Given the description of an element on the screen output the (x, y) to click on. 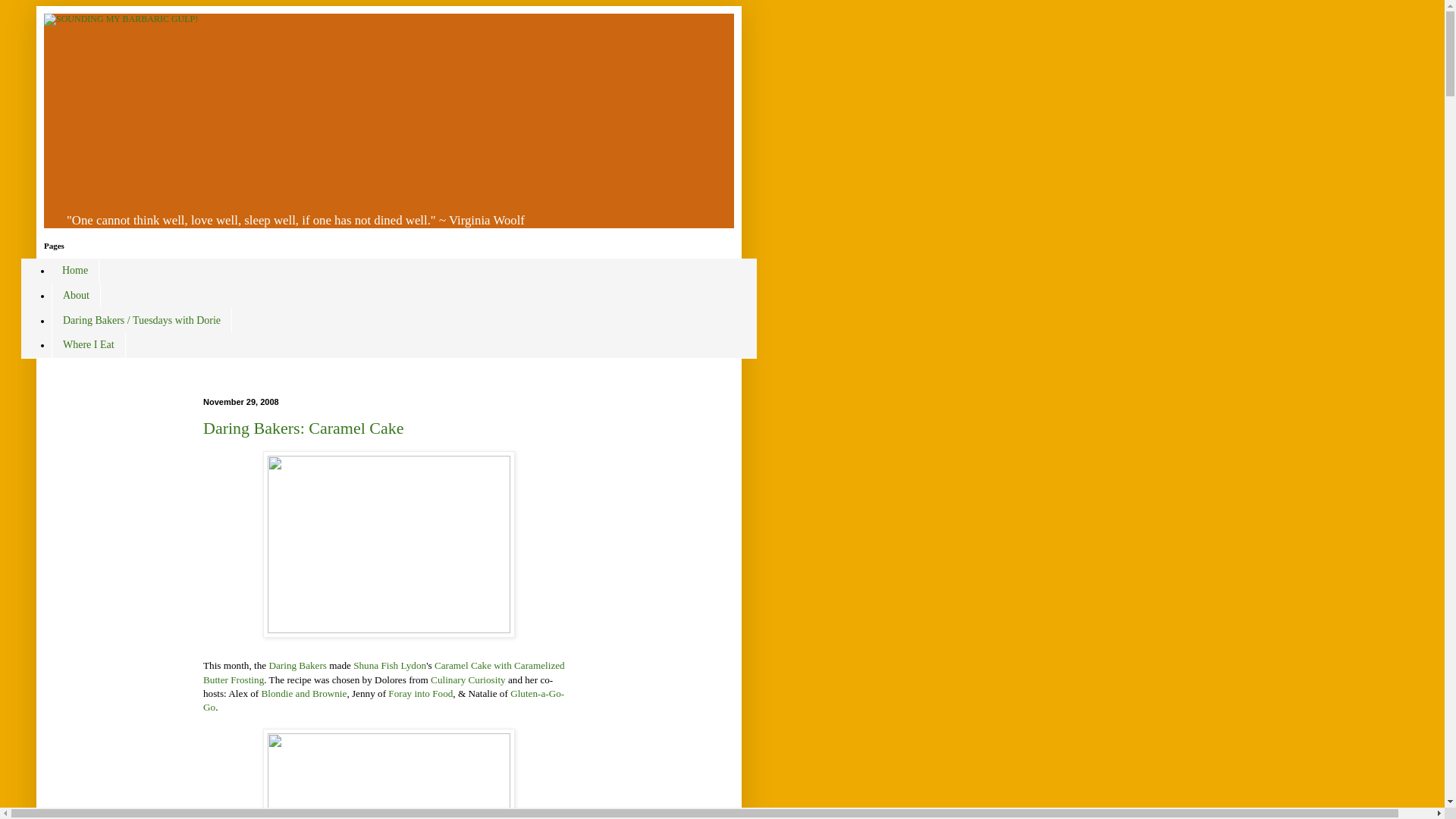
Caramel Cake with Caramelized Butter Frosting (383, 672)
Daring Bakers (296, 665)
About (75, 294)
Foray into Food (420, 693)
Shuna Fish Lydon (389, 665)
Where I Eat (87, 344)
Blondie and Brownie (304, 693)
Culinary Curiosity (467, 678)
Daring Bakers: Caramel Cake (303, 427)
Home (74, 270)
Gluten-a-Go-Go (383, 699)
